Given the description of an element on the screen output the (x, y) to click on. 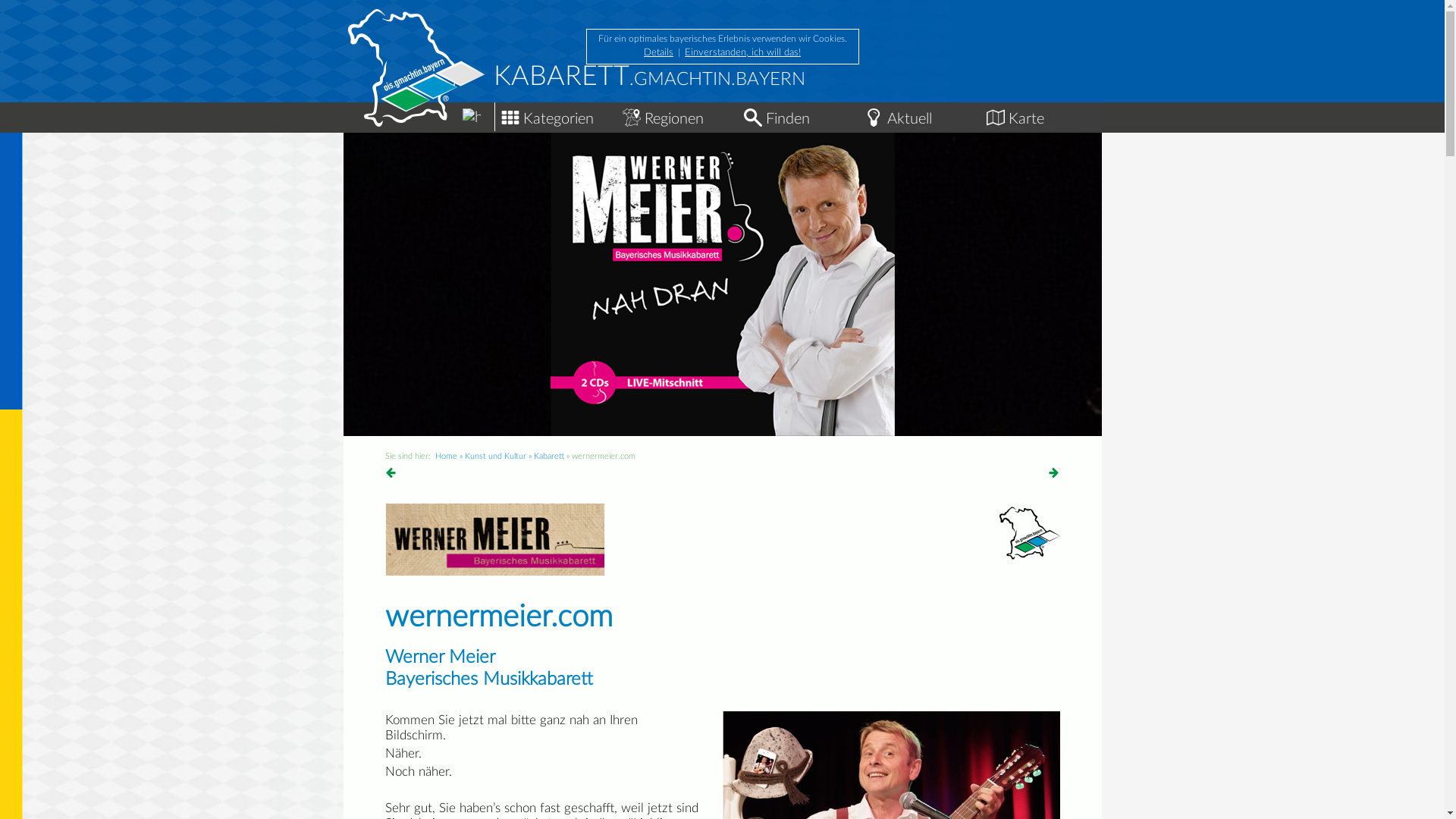
Einverstanden, ich will das! Element type: text (742, 52)
Finden bei gmachtin.bayern Element type: hover (752, 117)
kategorien bei gmachtin.bayern Element type: hover (509, 117)
in den Regionen bei gmachtin.bayern Element type: hover (630, 117)
dahoam bei gmachtin.bayern Element type: hover (471, 117)
Home Element type: text (446, 455)
Home Element type: text (417, 111)
Kunst und Kultur Element type: text (494, 455)
Aktuelle Events im Freistaat Element type: hover (873, 117)
Details Element type: text (658, 52)
gmachtin.bayern - logo Element type: hover (1029, 532)
Karte Element type: text (1040, 115)
auf der Karte bei gmachtin.bayern Element type: hover (994, 117)
Finden Element type: text (797, 115)
Kabarett Element type: text (548, 455)
Regionen Element type: text (676, 115)
Aktuell Element type: text (918, 115)
Kategorien Element type: text (554, 115)
